Given the description of an element on the screen output the (x, y) to click on. 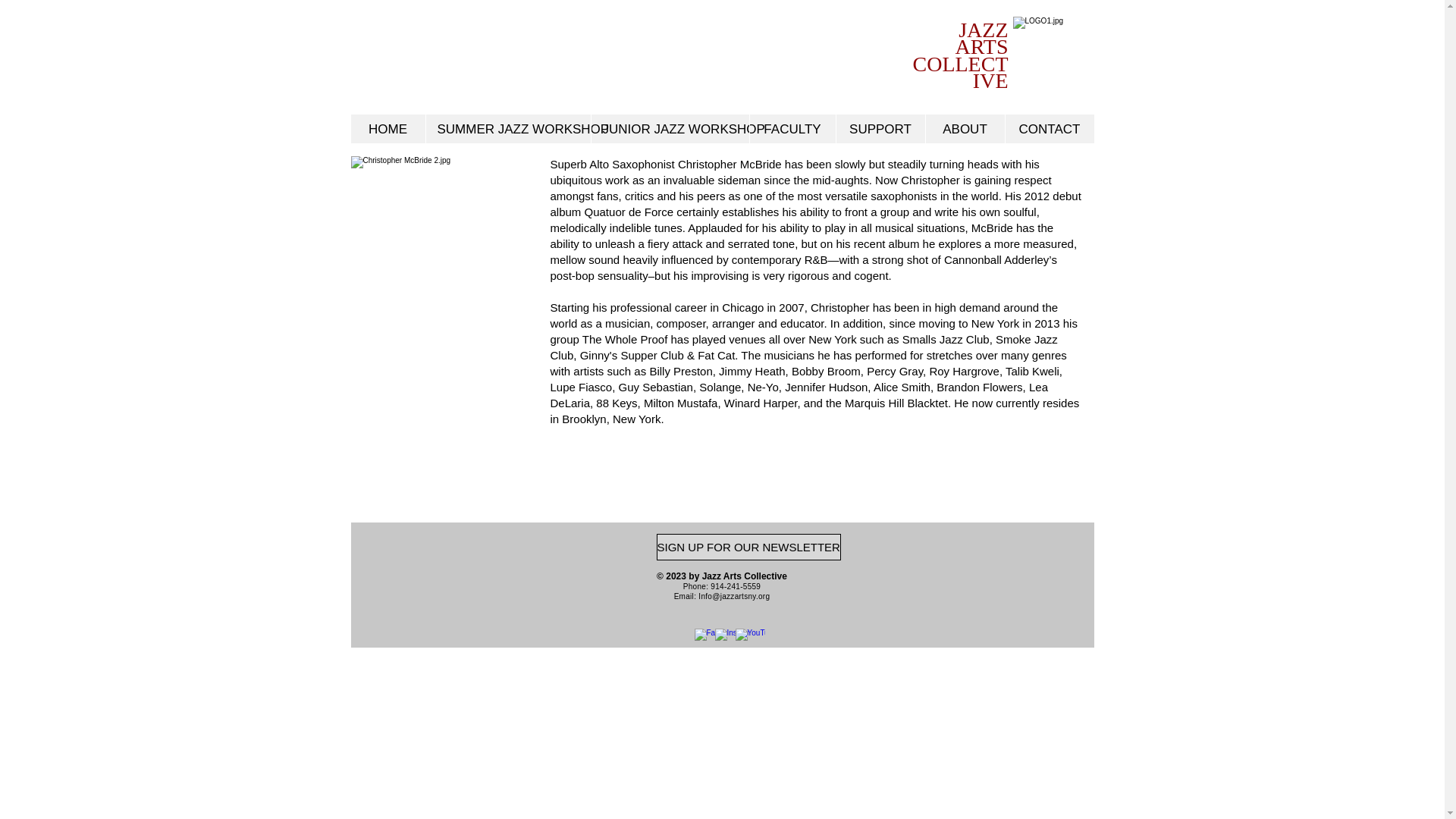
COLLECTIVE (960, 72)
JUNIOR JAZZ WORKSHOP (668, 129)
FACULTY (792, 129)
HOME (387, 129)
CONTACT (1048, 129)
ARTS (982, 46)
ABOUT (964, 129)
JAZZ (982, 29)
SIGN UP FOR OUR NEWSLETTER (748, 546)
SUMMER JAZZ WORKSHOP (507, 129)
